Given the description of an element on the screen output the (x, y) to click on. 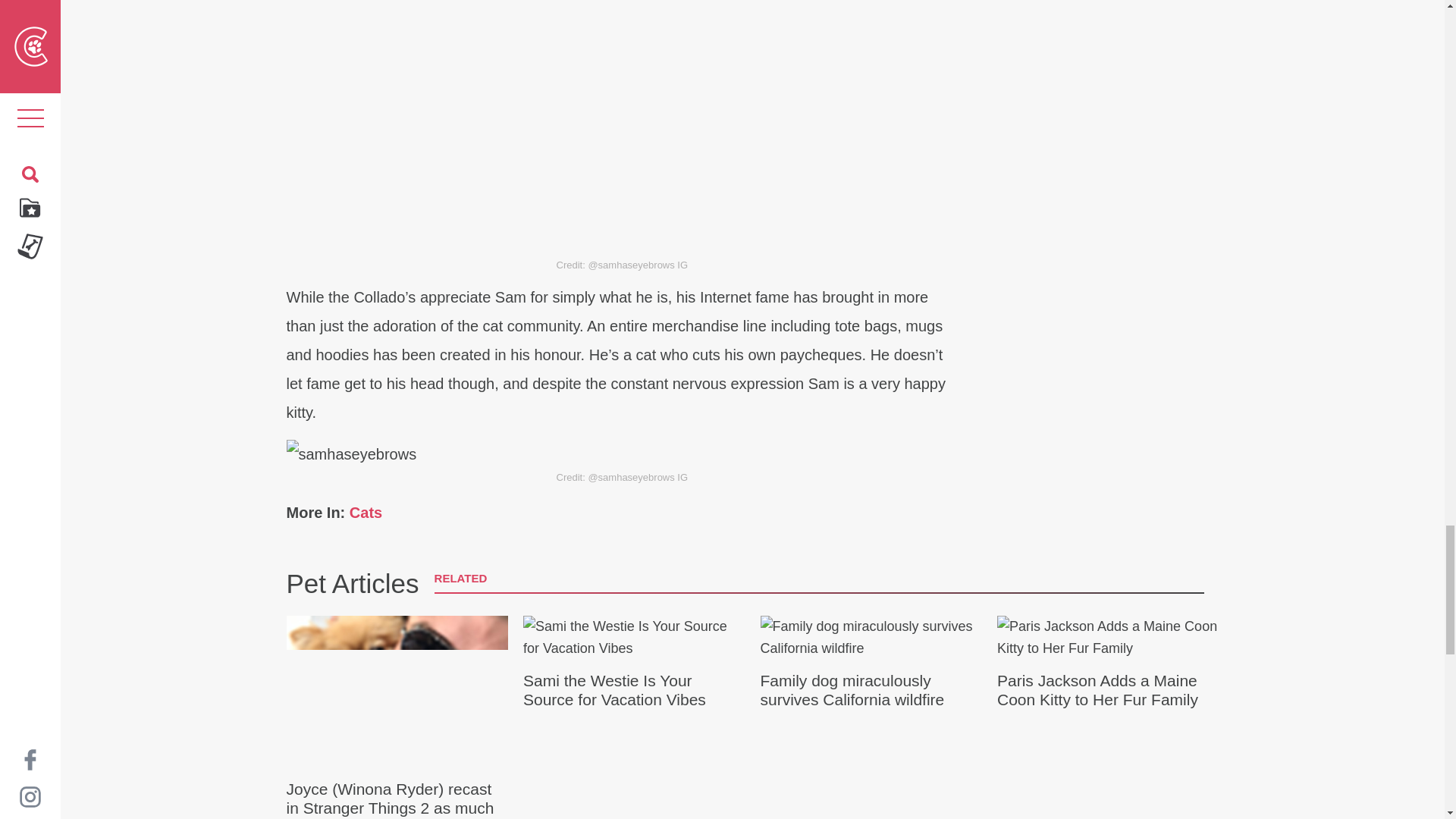
Family dog miraculously survives California wildfire (870, 662)
Sami the Westie Is Your Source for Vacation Vibes (633, 662)
Paris Jackson Adds a Maine Coon Kitty to Her Fur Family (1108, 662)
